Given the description of an element on the screen output the (x, y) to click on. 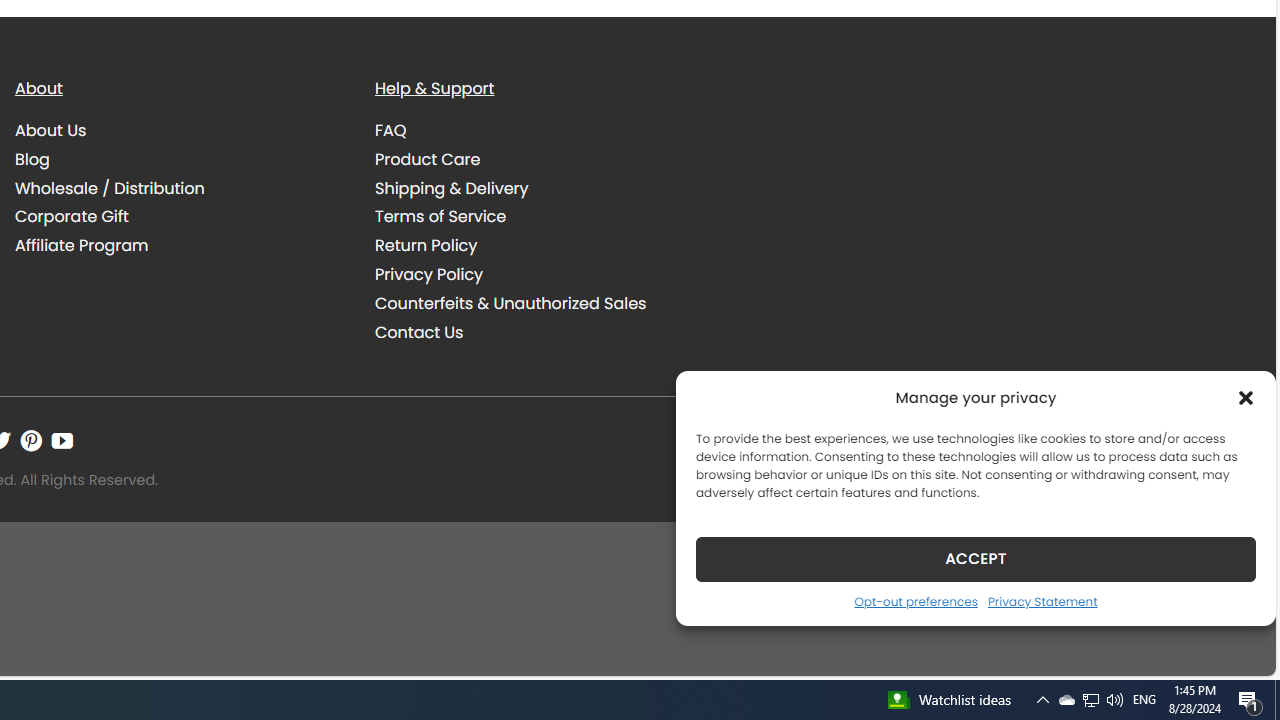
Terms of Service (440, 216)
Class: cmplz-close (1245, 397)
Follow on Pinterest (31, 440)
Corporate Gift (180, 216)
Go to top (1234, 647)
Shipping & Delivery (451, 187)
Affiliate Program (81, 245)
Counterfeits & Unauthorized Sales (510, 302)
Return Policy (540, 246)
Terms of Service (540, 216)
Product Care (540, 159)
Blog (32, 158)
Affiliate Program (180, 246)
Wholesale / Distribution (180, 188)
Return Policy (426, 245)
